Given the description of an element on the screen output the (x, y) to click on. 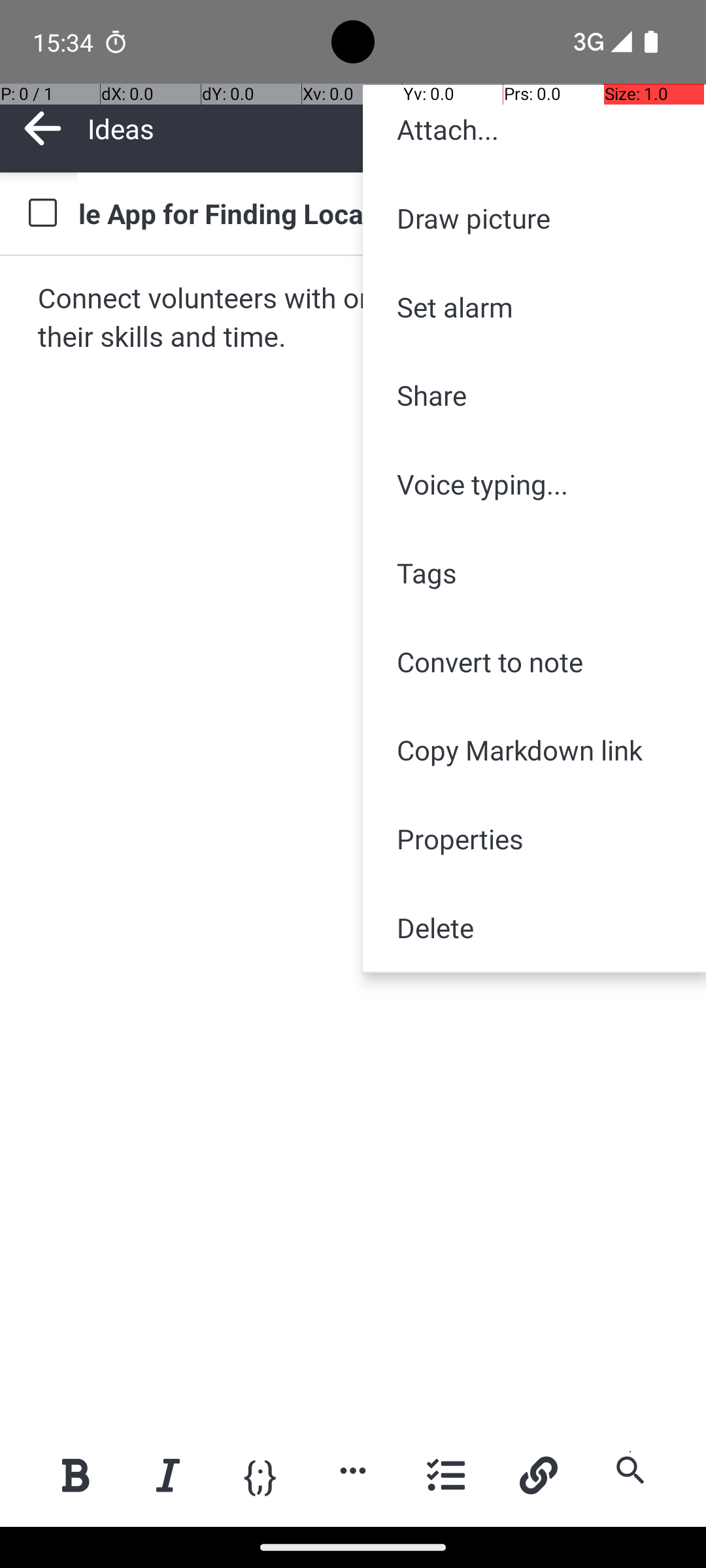
Connect volunteers with organizations in need of their skills and time. Element type: android.widget.EditText (354, 318)
